Given the description of an element on the screen output the (x, y) to click on. 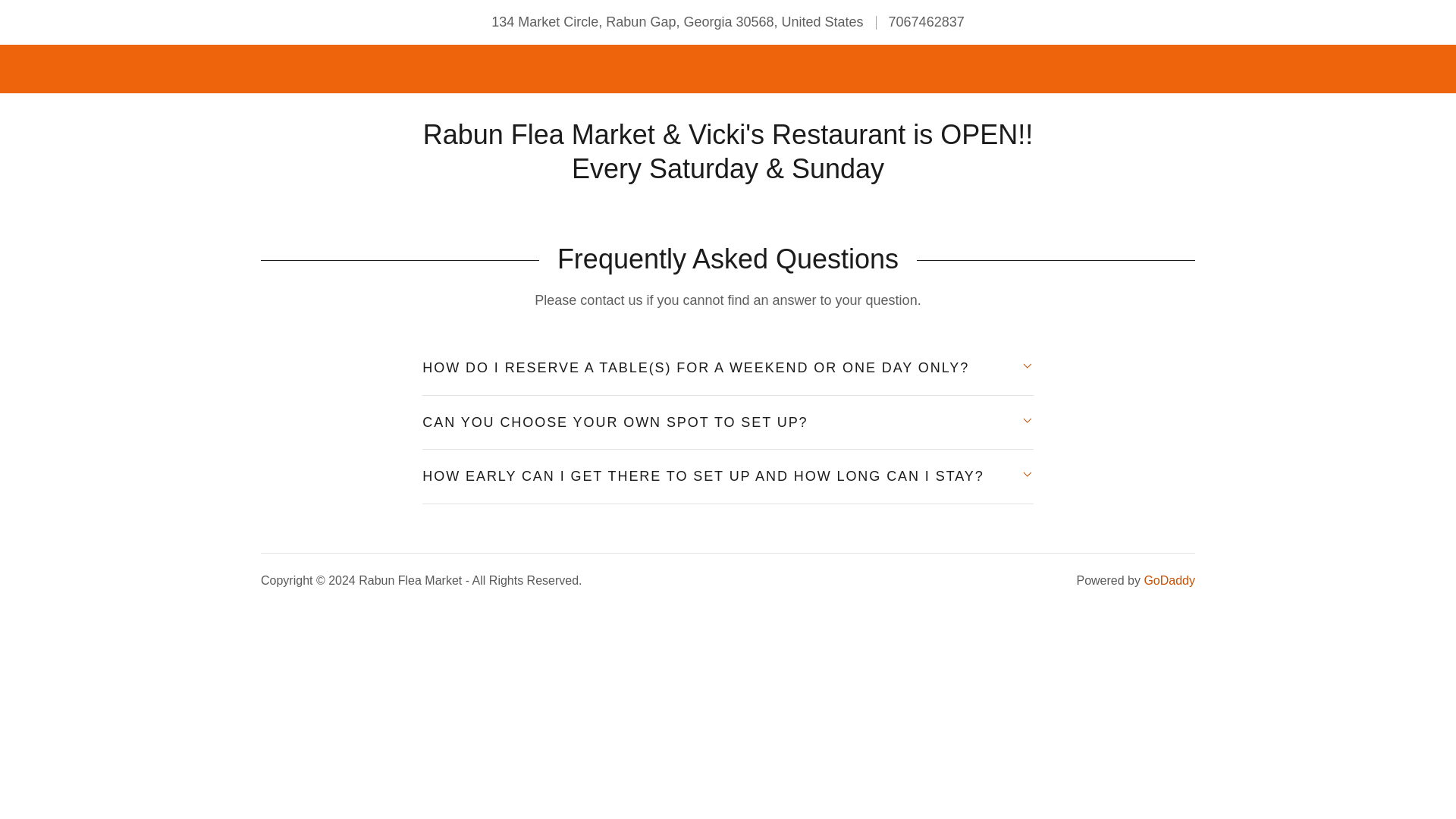
HOW EARLY CAN I GET THERE TO SET UP AND HOW LONG CAN I STAY? (727, 476)
GoDaddy (1168, 580)
7067462837 (925, 21)
CAN YOU CHOOSE YOUR OWN SPOT TO SET UP? (727, 422)
